Given the description of an element on the screen output the (x, y) to click on. 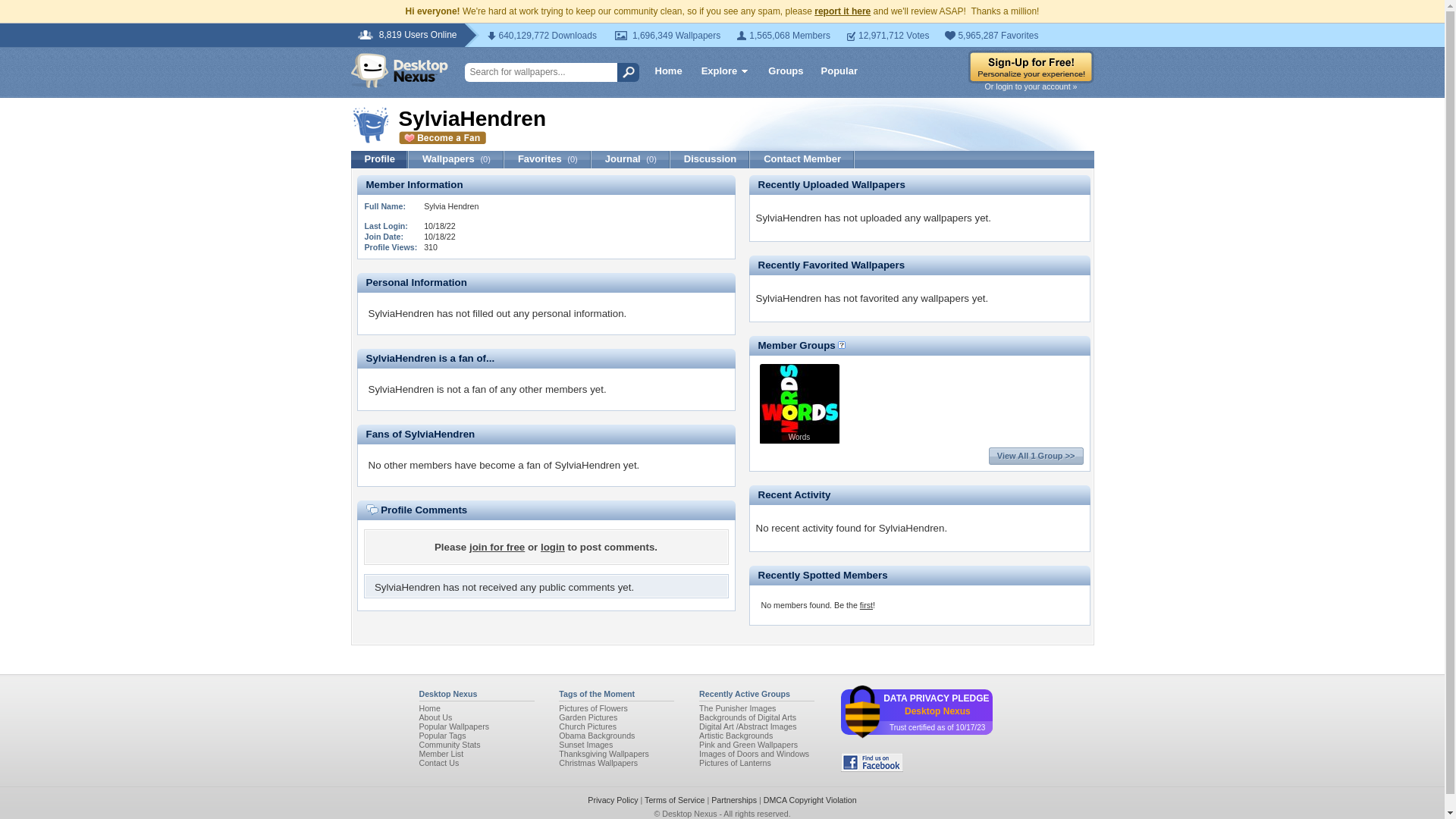
report it here (841, 10)
Profile (378, 159)
Desktop Nexus Wallpapers (429, 707)
Search for wallpapers... (546, 72)
Home (668, 70)
login (552, 546)
Home (429, 707)
first (866, 604)
Contact Member (801, 159)
About Us (435, 716)
Popular (838, 70)
Words (800, 437)
Words (800, 437)
Groups (785, 70)
Explore (725, 72)
